Given the description of an element on the screen output the (x, y) to click on. 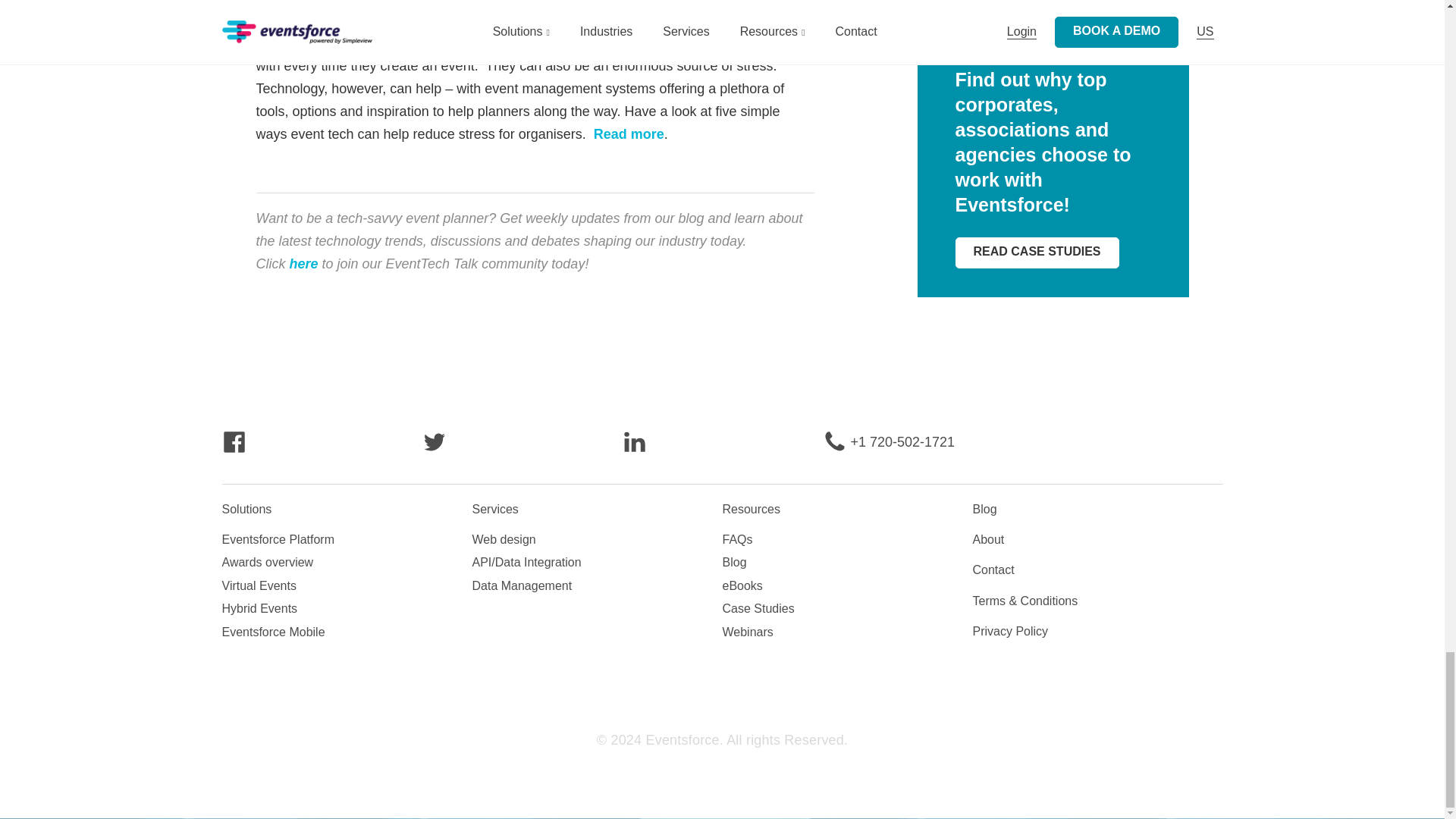
Twitter (433, 449)
Linkedin (633, 449)
Facebook (233, 449)
